Given the description of an element on the screen output the (x, y) to click on. 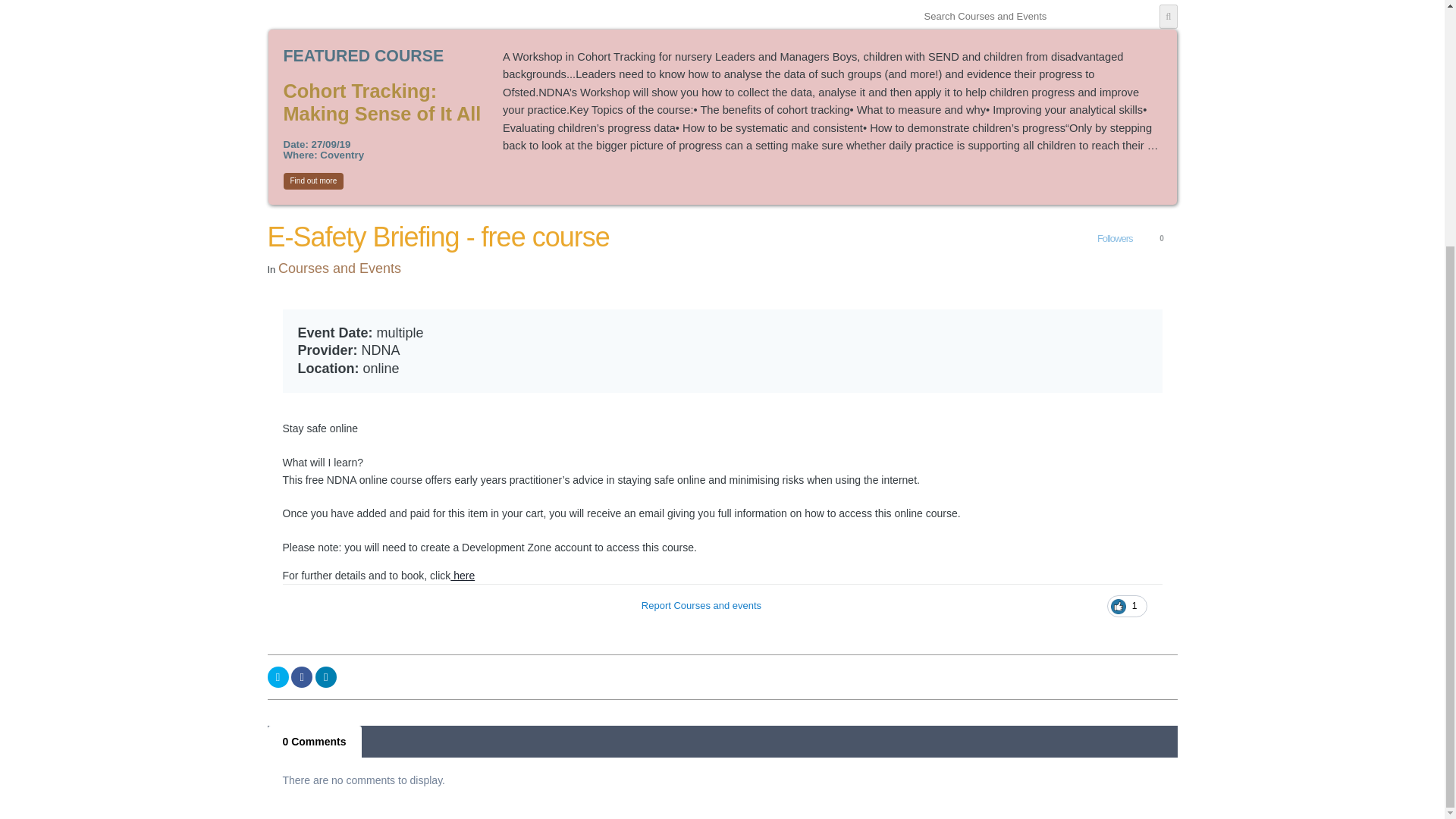
Report Courses and events (700, 605)
here (461, 575)
Find out more (313, 180)
Cohort Tracking: Making Sense of It All (382, 102)
Share on Facebook (302, 676)
Share on LinkedIn (325, 676)
Report Courses and events (700, 605)
Courses and Events (339, 268)
Cohort Tracking: Making Sense of It All (382, 102)
0 Comments (313, 741)
